Given the description of an element on the screen output the (x, y) to click on. 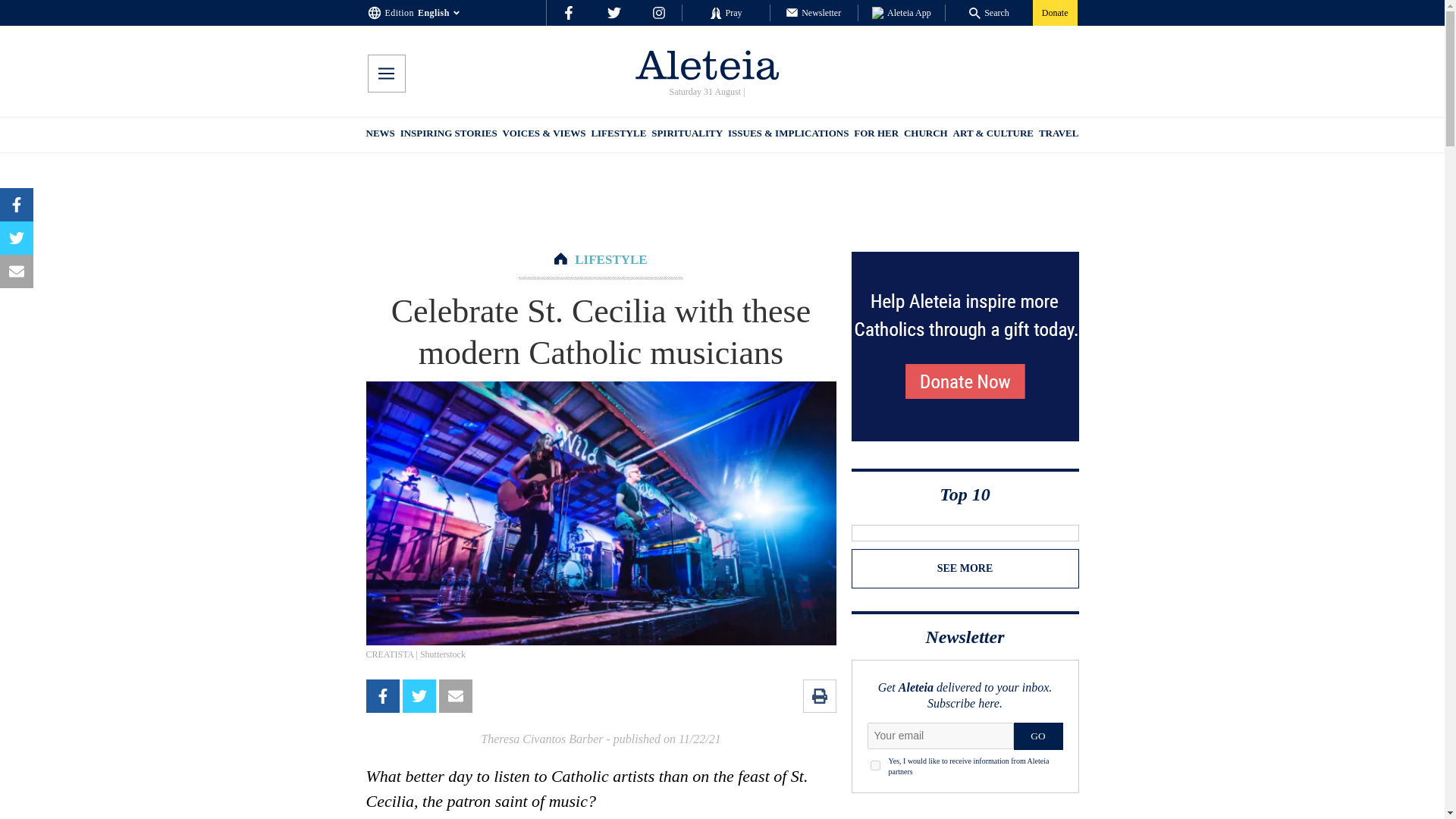
SPIRITUALITY (686, 134)
Search (989, 12)
Aleteia App (901, 12)
FOR HER (875, 134)
LIFESTYLE (618, 134)
TRAVEL (1058, 134)
Pray (725, 12)
INSPIRING STORIES (448, 134)
1 (875, 765)
Newsletter (813, 12)
